Given the description of an element on the screen output the (x, y) to click on. 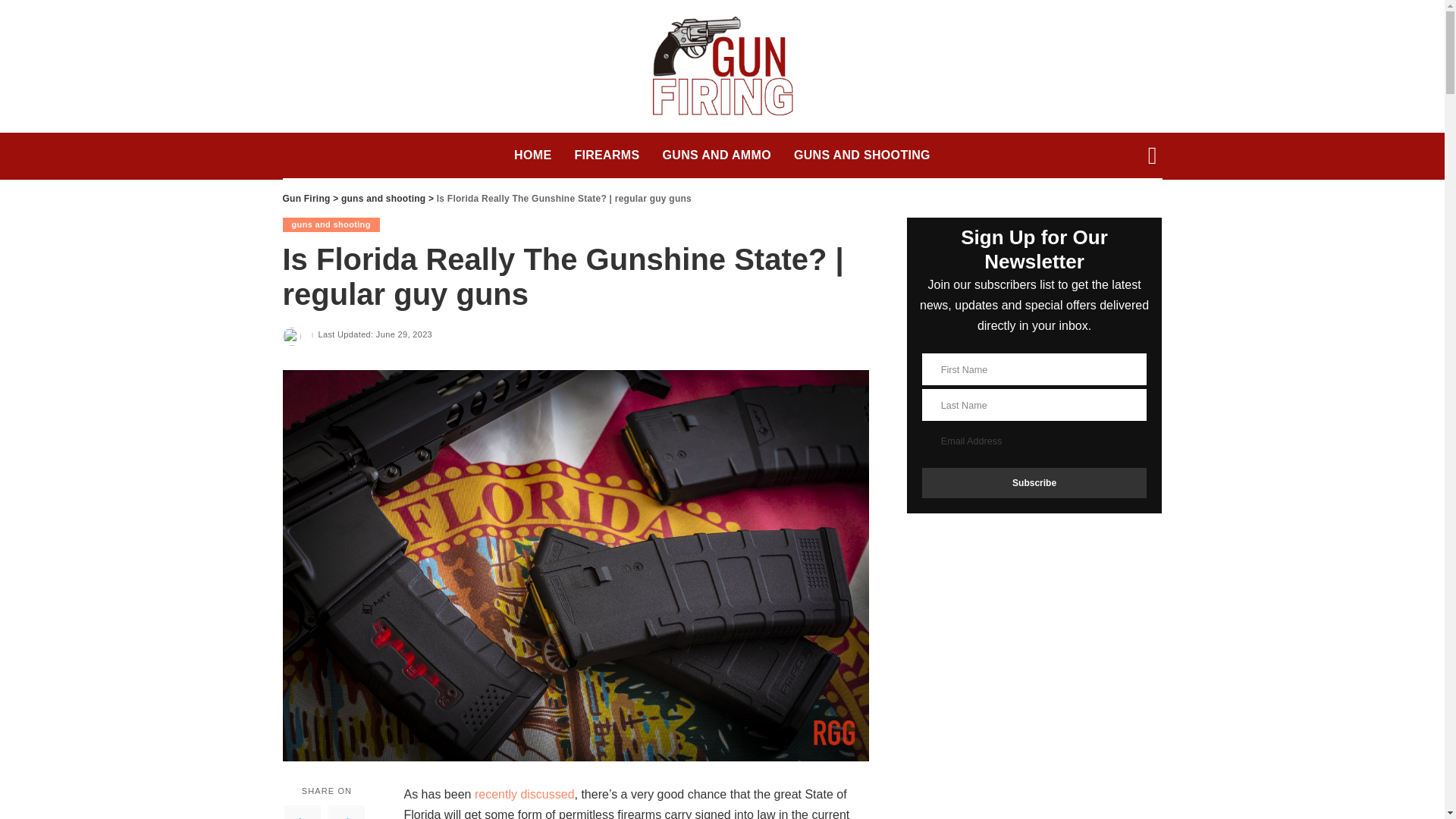
Go to the guns and shooting Category archives. (382, 198)
Search (1140, 12)
Go to Gun Firing. (306, 198)
Search (1140, 211)
Facebook (301, 812)
GUNS AND AMMO (715, 155)
GUNS AND SHOOTING (862, 155)
guns and shooting (330, 224)
Gun Firing (306, 198)
Twitter (345, 812)
